Given the description of an element on the screen output the (x, y) to click on. 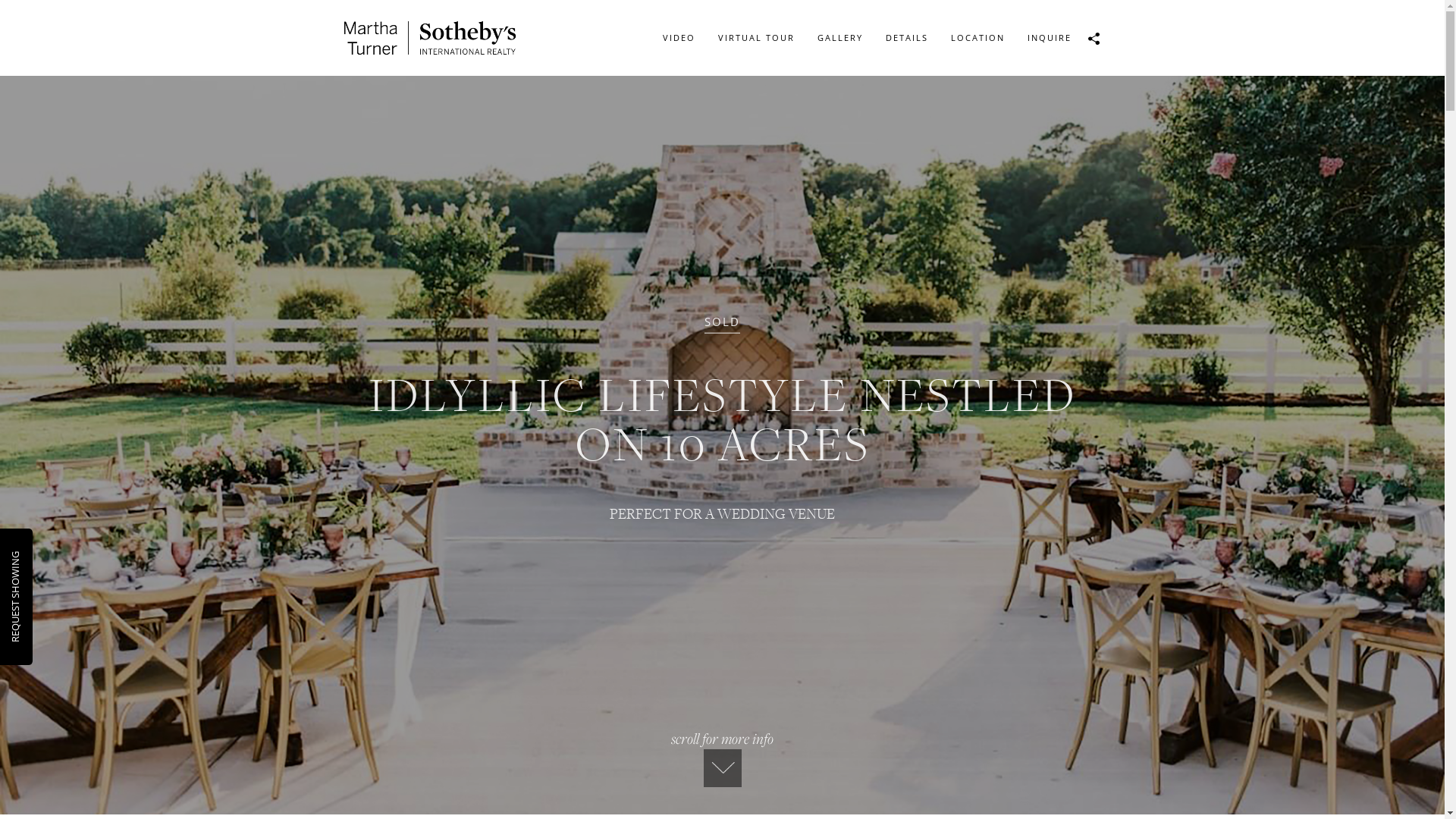
DETAILS Element type: text (905, 37)
GALLERY Element type: text (839, 37)
scroll for more info Element type: text (721, 757)
VIDEO Element type: text (678, 37)
VIRTUAL TOUR Element type: text (756, 37)
INQUIRE Element type: text (1049, 37)
REQUEST SHOWING Element type: text (53, 557)
LOCATION Element type: text (976, 37)
